Given the description of an element on the screen output the (x, y) to click on. 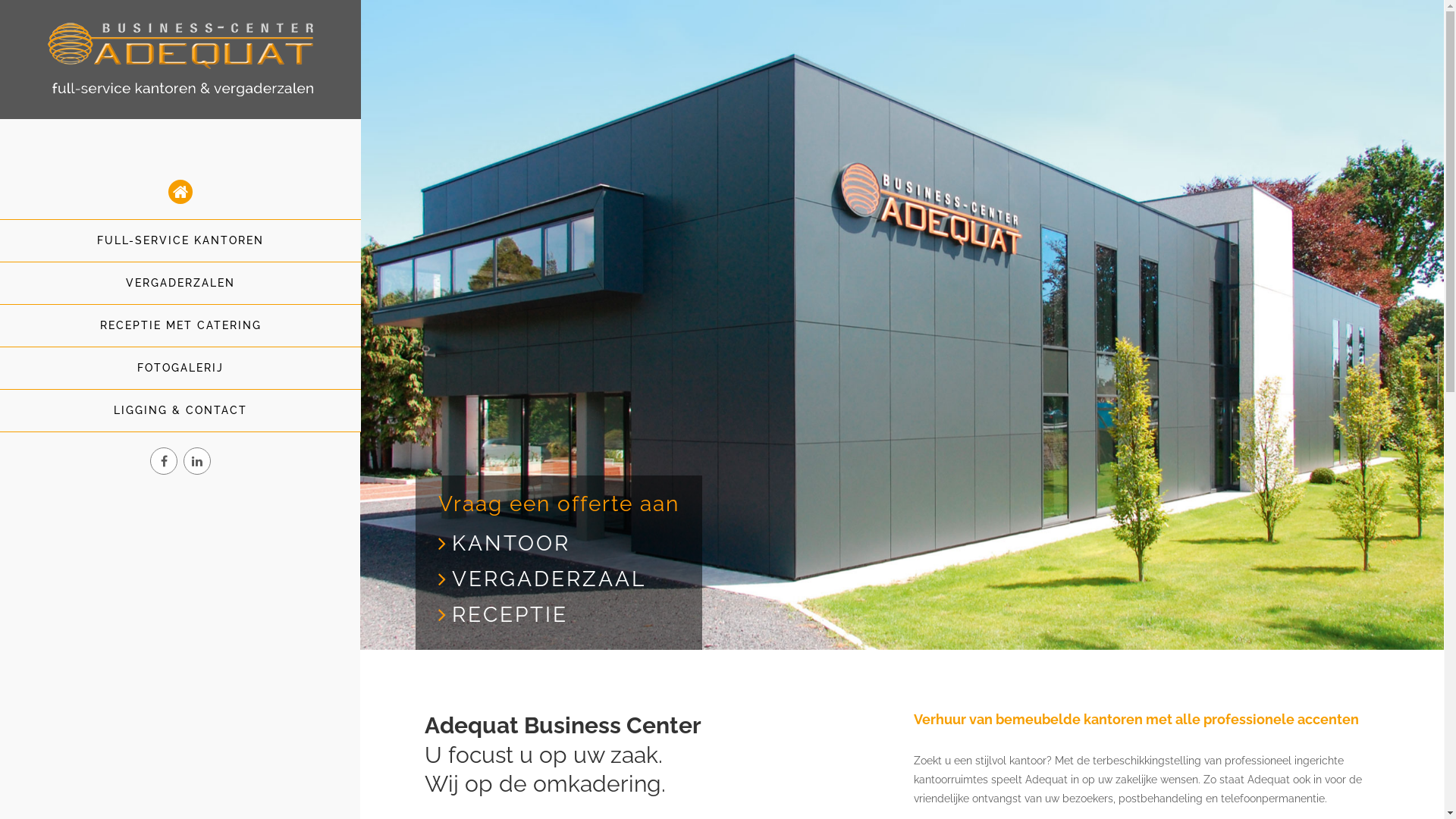
VERGADERZALEN Element type: text (180, 282)
KANTOOR Element type: text (510, 542)
VERGADERZAAL Element type: text (548, 578)
LIGGING & CONTACT Element type: text (180, 410)
FULL-SERVICE KANTOREN Element type: text (180, 240)
RECEPTIE Element type: text (509, 614)
RECEPTIE MET CATERING Element type: text (180, 325)
FOTOGALERIJ Element type: text (180, 367)
